Given the description of an element on the screen output the (x, y) to click on. 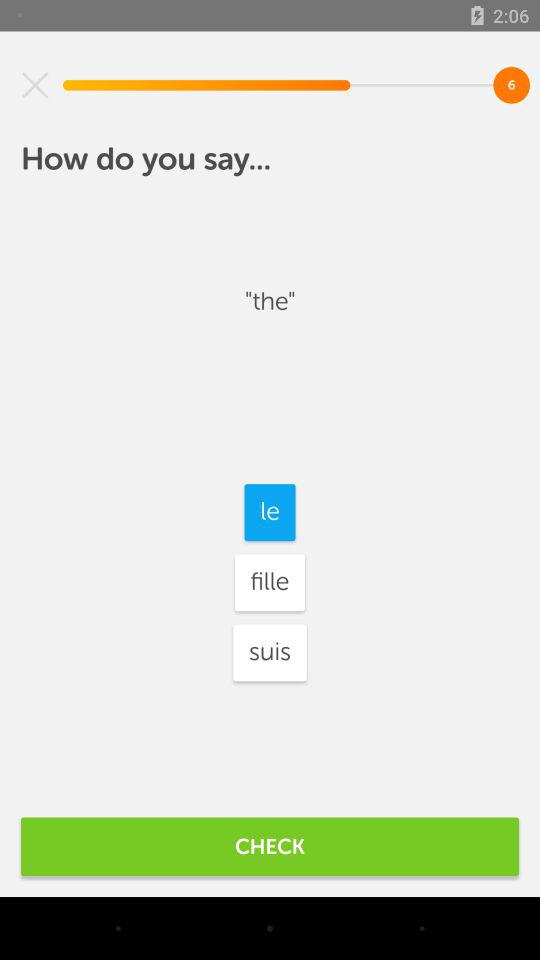
choose the check (270, 846)
